Given the description of an element on the screen output the (x, y) to click on. 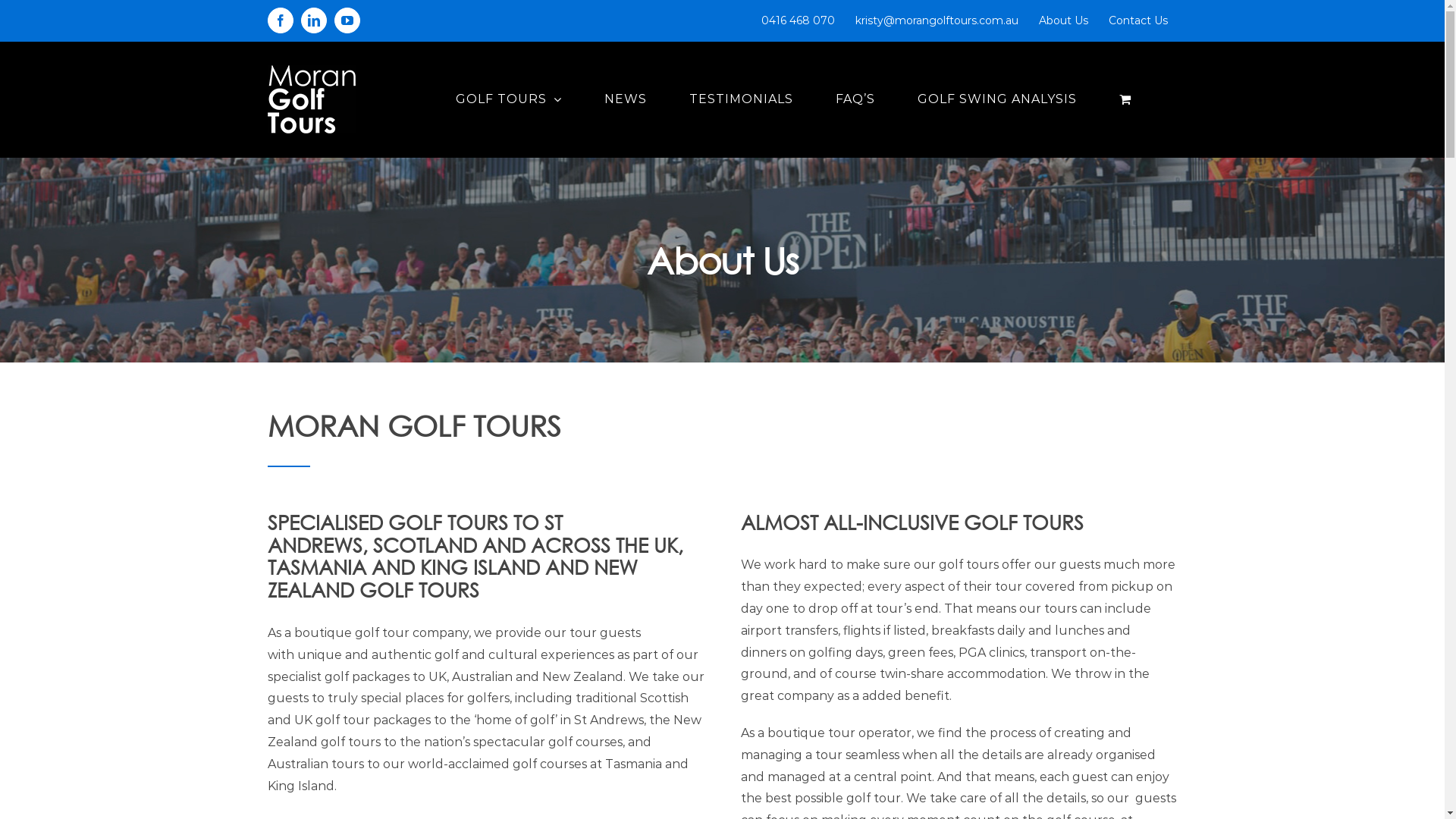
kristy@morangolftours.com.au Element type: text (935, 20)
GOLF TOURS Element type: text (508, 98)
0416 468 070 Element type: text (797, 20)
Contact Us Element type: text (1137, 20)
About Us Element type: text (1062, 20)
LinkedIn Element type: text (313, 20)
GOLF SWING ANALYSIS Element type: text (996, 98)
NEWS Element type: text (624, 98)
Facebook Element type: text (279, 20)
YouTube Element type: text (346, 20)
TESTIMONIALS Element type: text (740, 98)
